Given the description of an element on the screen output the (x, y) to click on. 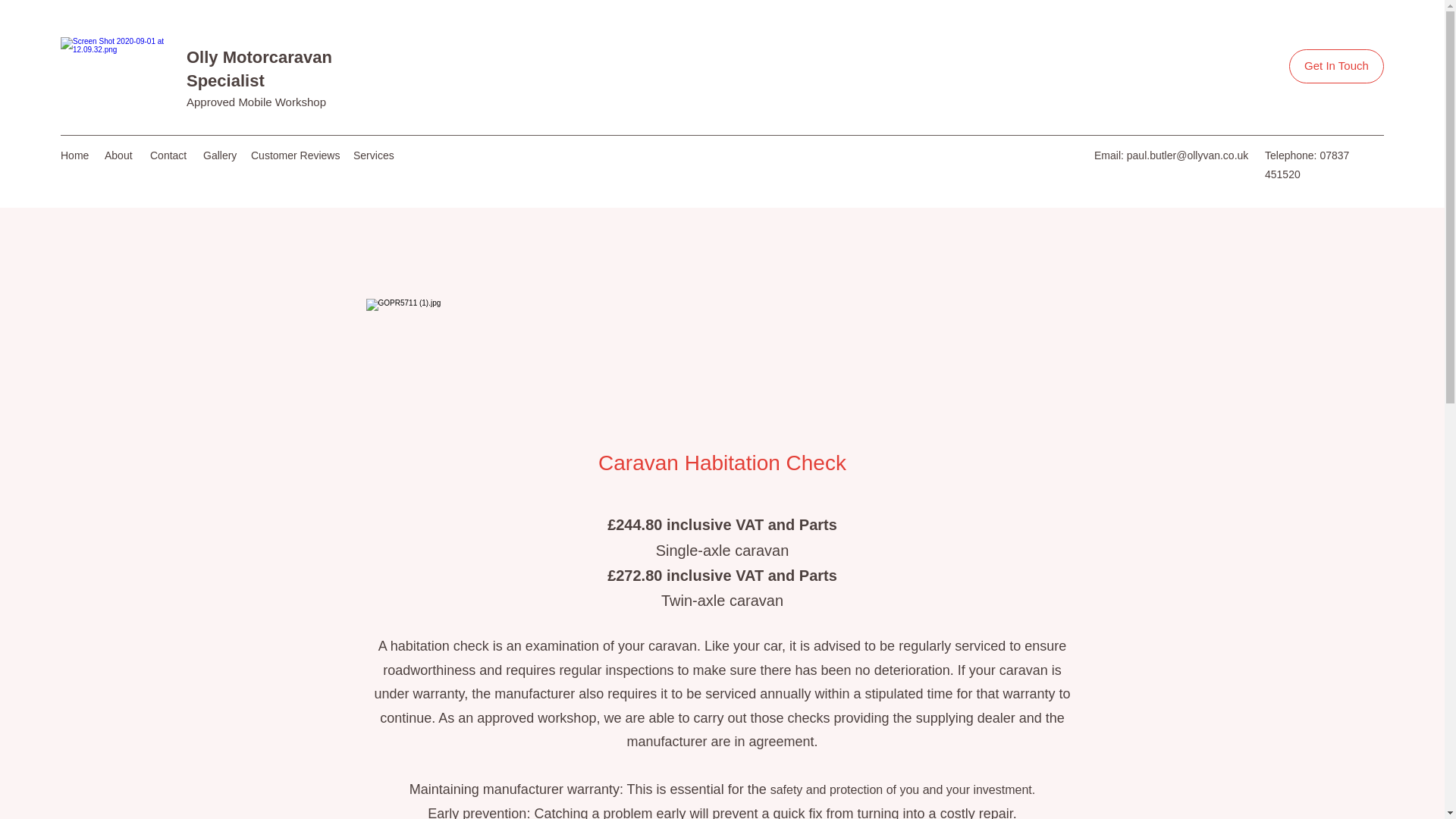
Gallery (219, 155)
Contact (168, 155)
Home (74, 155)
About (119, 155)
Customer Reviews (294, 155)
Get In Touch (1336, 66)
Olly Motorcaravan Specialist (258, 68)
